Given the description of an element on the screen output the (x, y) to click on. 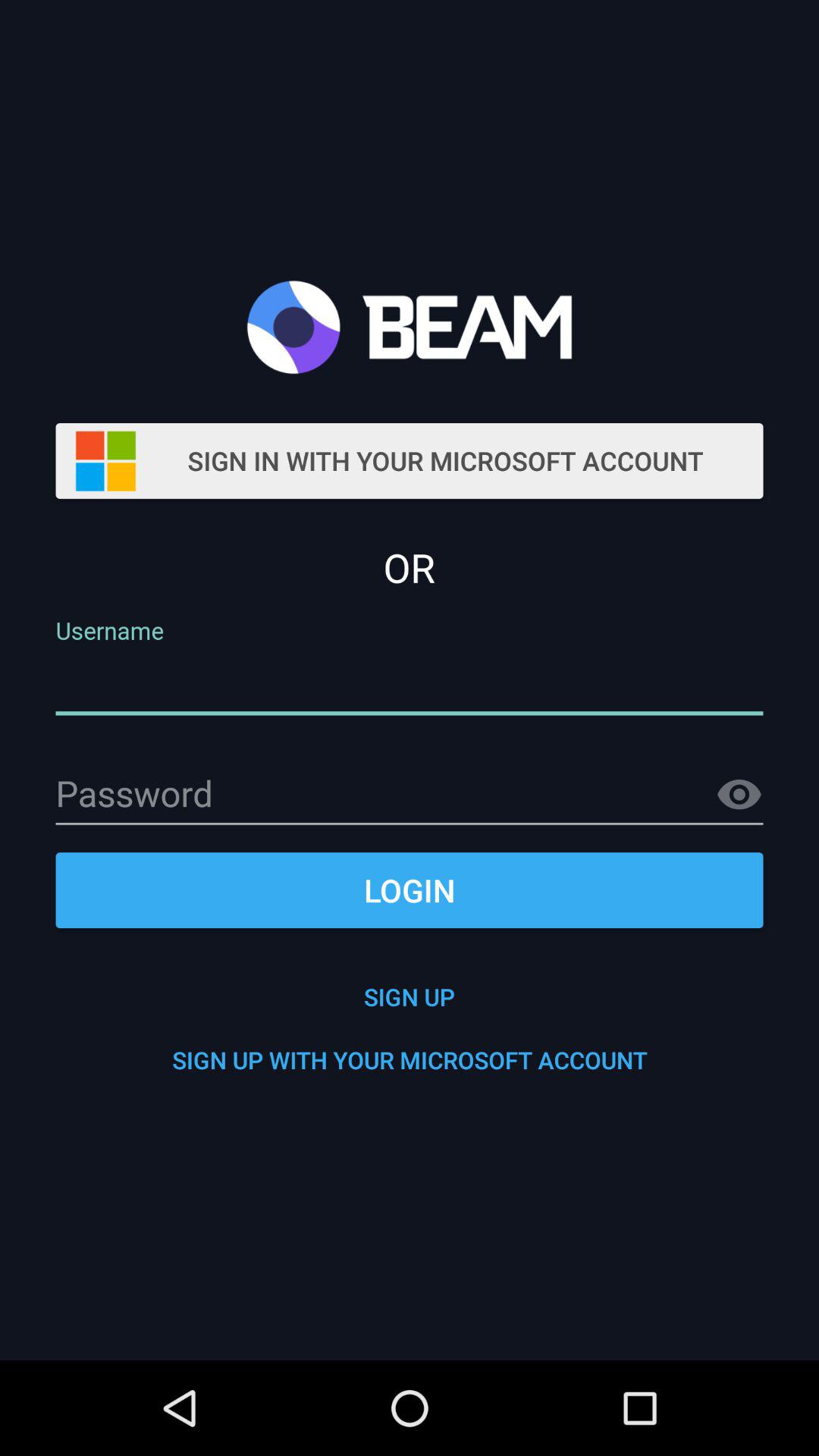
show/hide password (739, 795)
